Given the description of an element on the screen output the (x, y) to click on. 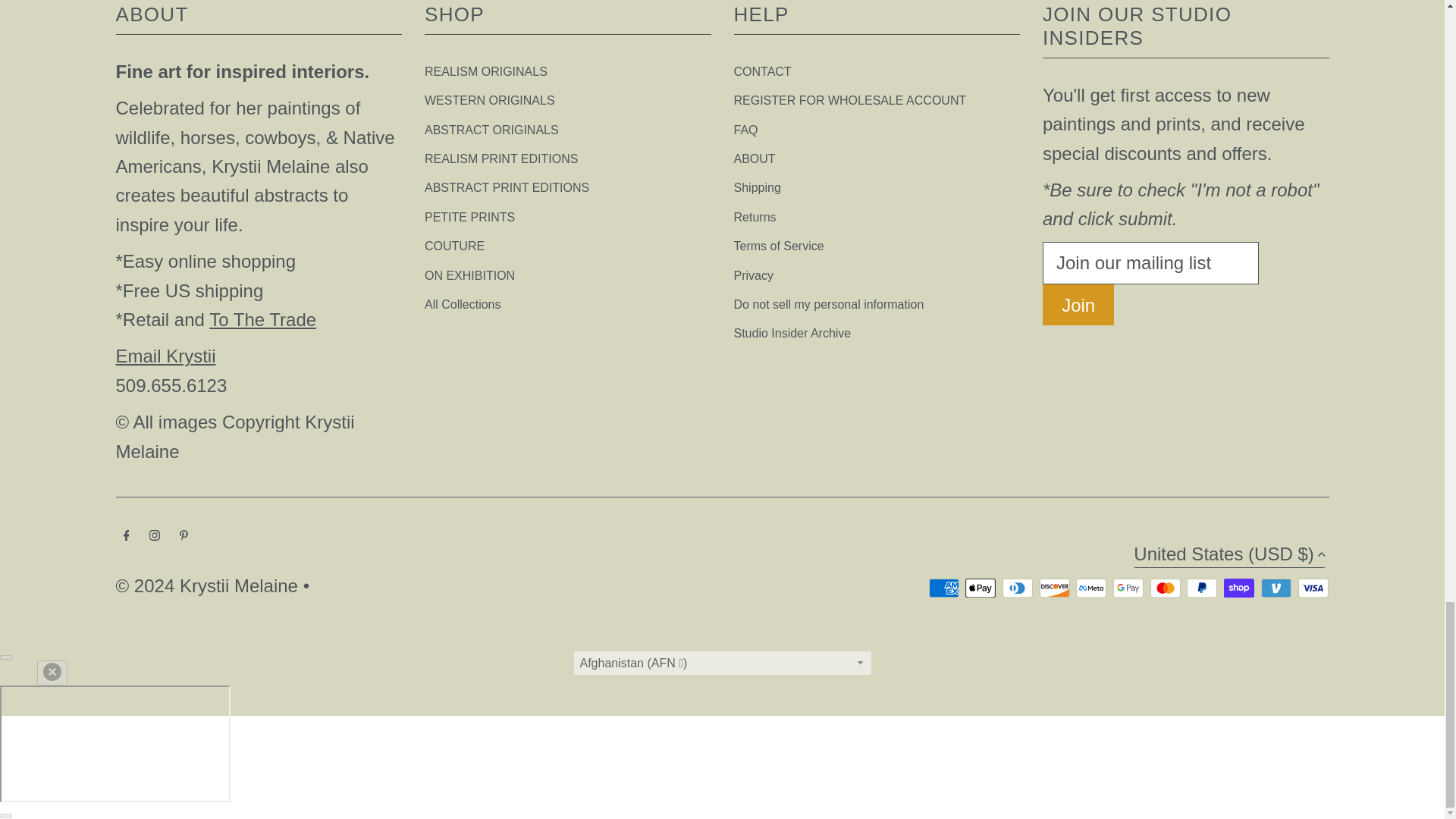
American Express (943, 587)
Join (1077, 304)
Google Pay (1127, 587)
Meta Pay (1090, 587)
Diners Club (1017, 587)
Discover (1054, 587)
Apple Pay (980, 587)
